Given the description of an element on the screen output the (x, y) to click on. 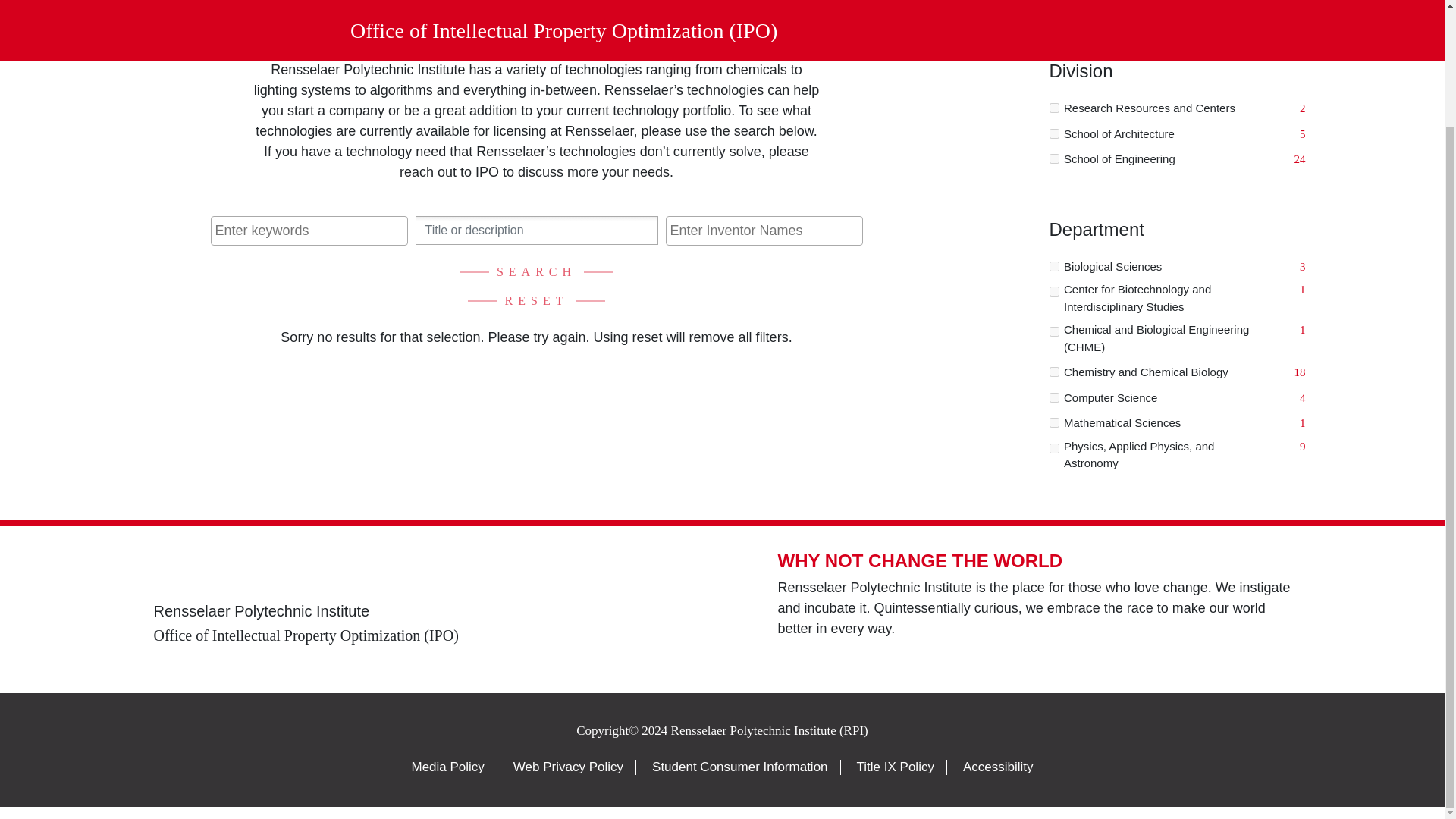
on (1054, 266)
on (1054, 331)
on (1054, 158)
Title IX Policy (895, 767)
on (1054, 371)
SEARCH (536, 271)
on (1054, 422)
Media Policy (447, 767)
on (1054, 291)
on (1054, 108)
